Given the description of an element on the screen output the (x, y) to click on. 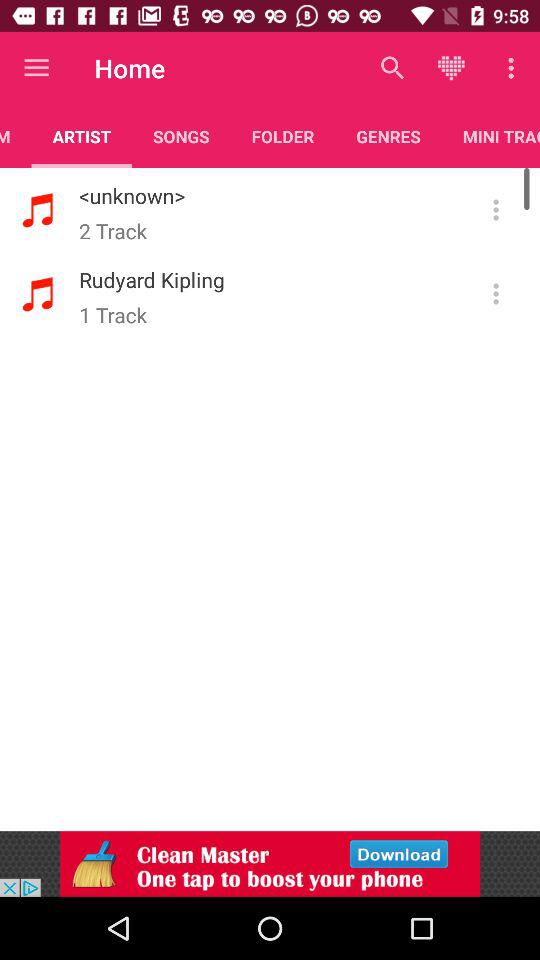
control menu (495, 209)
